Given the description of an element on the screen output the (x, y) to click on. 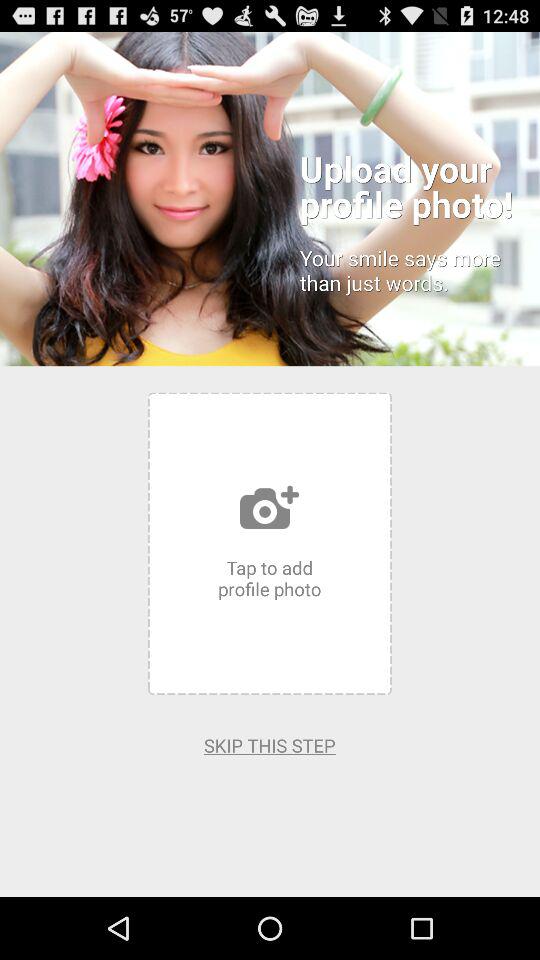
turn on the app at the bottom (269, 745)
